Given the description of an element on the screen output the (x, y) to click on. 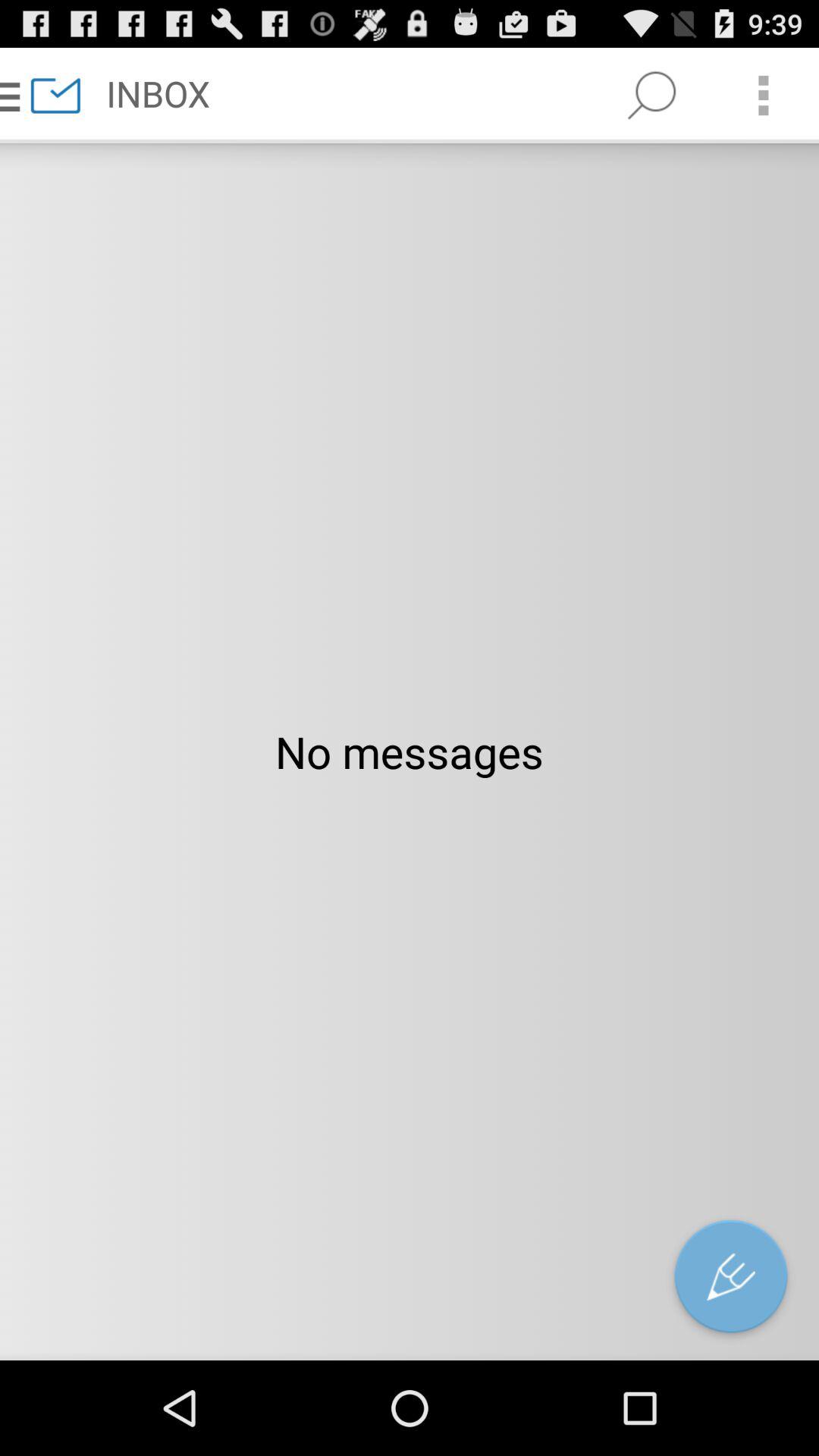
tap the app above no messages app (651, 95)
